Given the description of an element on the screen output the (x, y) to click on. 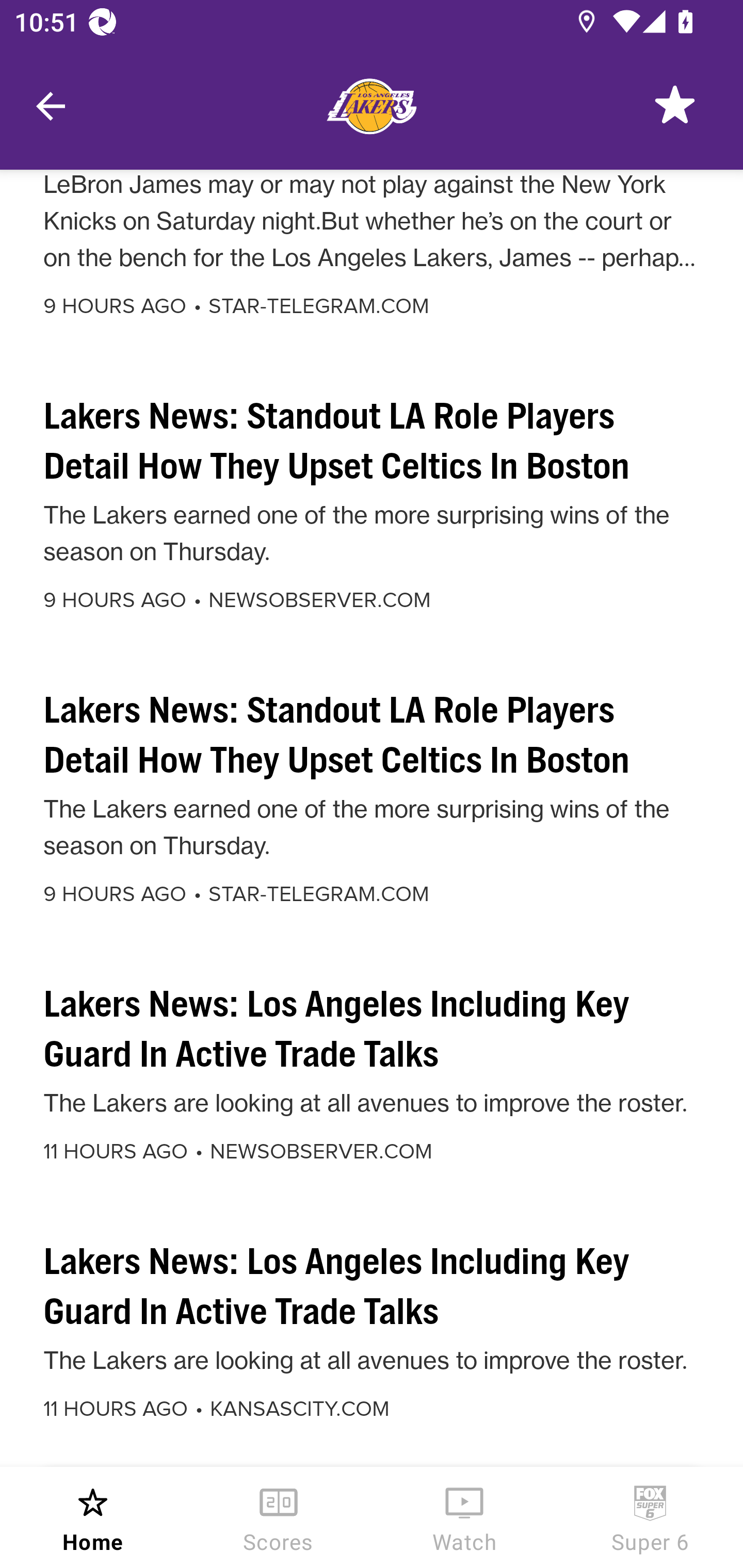
Navigate up (50, 106)
Scores (278, 1517)
Watch (464, 1517)
Super 6 (650, 1517)
